Given the description of an element on the screen output the (x, y) to click on. 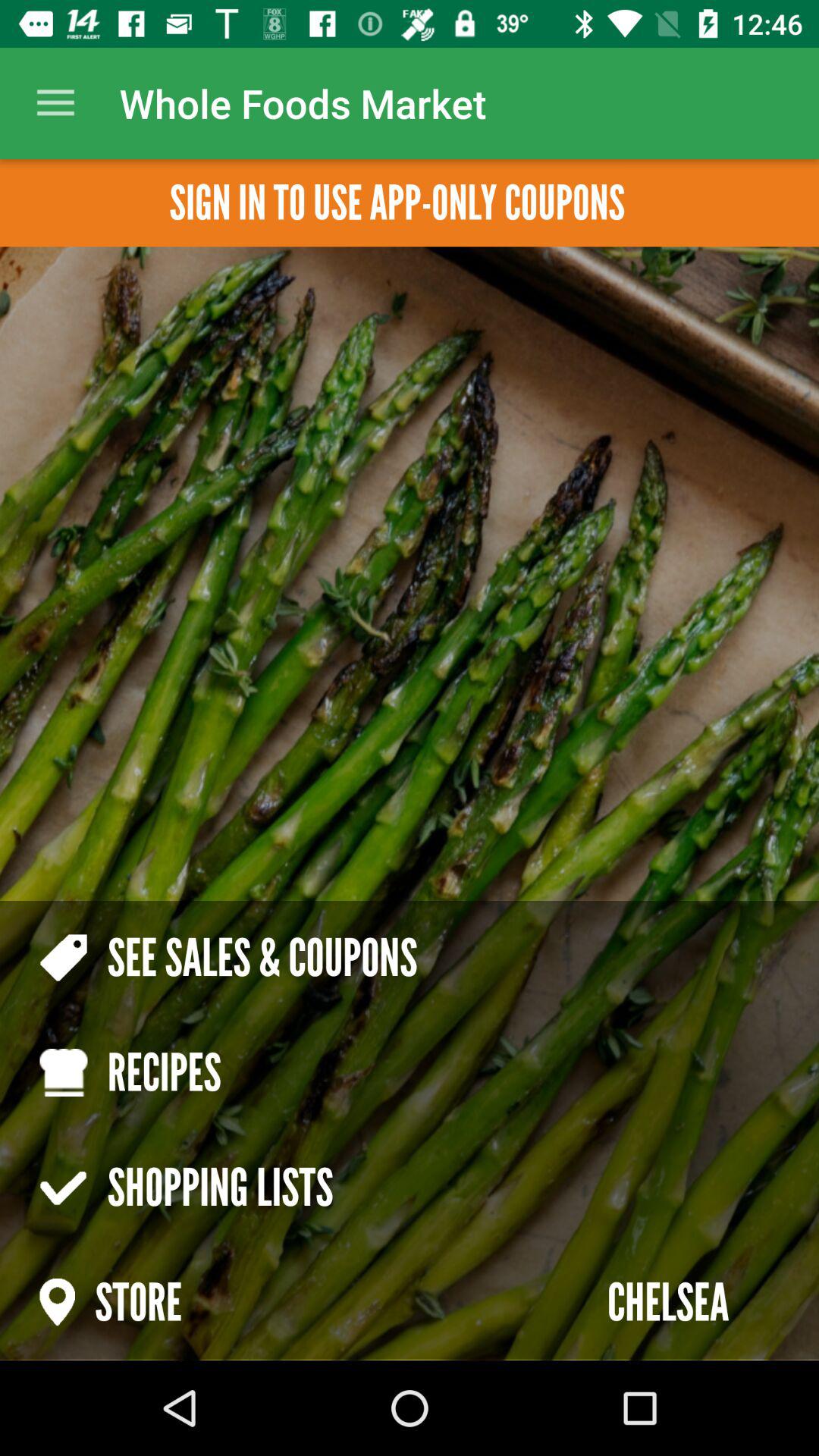
jump to sign in to (397, 202)
